Given the description of an element on the screen output the (x, y) to click on. 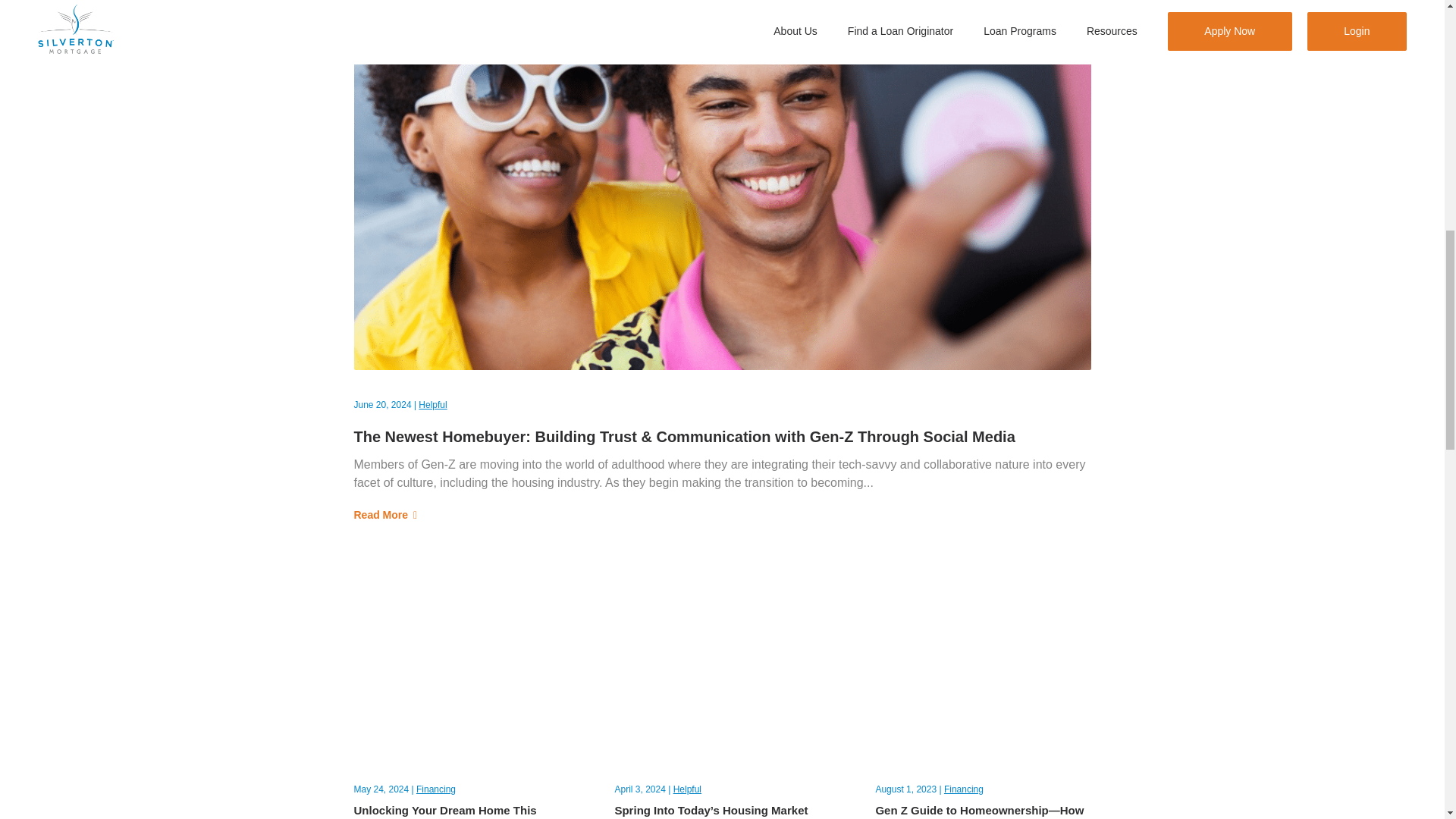
Helpful (432, 404)
Helpful (686, 788)
Read More (721, 514)
Financing (435, 788)
